Given the description of an element on the screen output the (x, y) to click on. 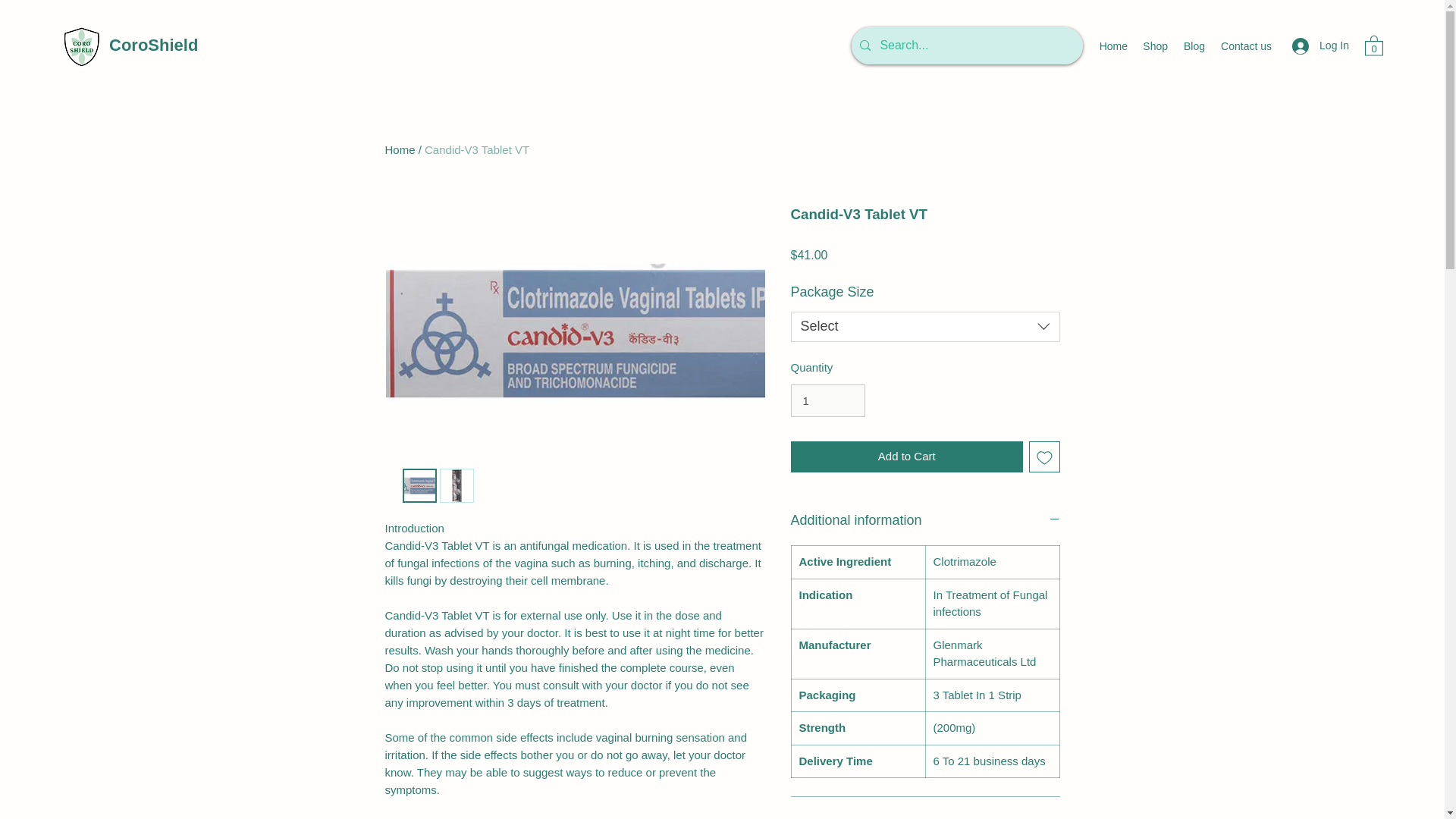
Contact us (1245, 46)
1 (827, 400)
Home (1112, 46)
Blog (1193, 46)
Shop (1154, 46)
Home (399, 149)
Add to Cart (906, 456)
CoroShield (153, 45)
Note (924, 816)
Select (924, 327)
Log In (1320, 45)
Candid-V3 Tablet VT (477, 149)
Additional information (924, 520)
